Given the description of an element on the screen output the (x, y) to click on. 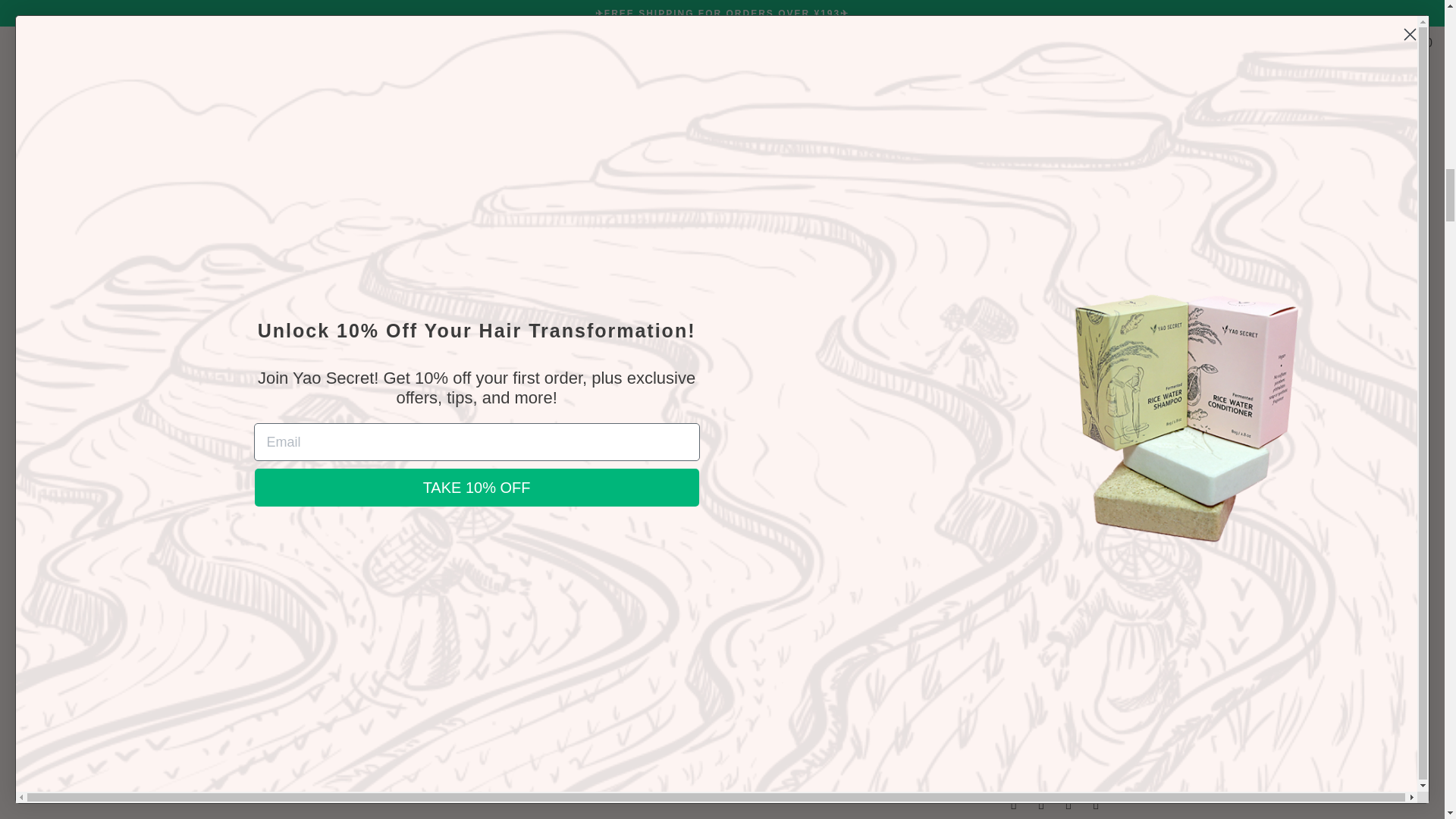
Hair Care Industry Trends to look out for in 2024 (340, 572)
Amazing Dragon Boat Festival with the Red Yao Children (561, 593)
How We Partner For A Better Business And Community (783, 593)
Post comment (367, 272)
Amazing Dragon Boat Festival with the Red Yao Children (603, 493)
How We Partner For A Better Business And Community (832, 401)
How We Partner For A Better Business And Community (812, 493)
Amazing Dragon Boat Festival with the Red Yao Children (611, 401)
Hair Care Industry Trends to look out for in 2024 (383, 483)
Hair Care Industry Trends to look out for in 2024 (389, 401)
